Given the description of an element on the screen output the (x, y) to click on. 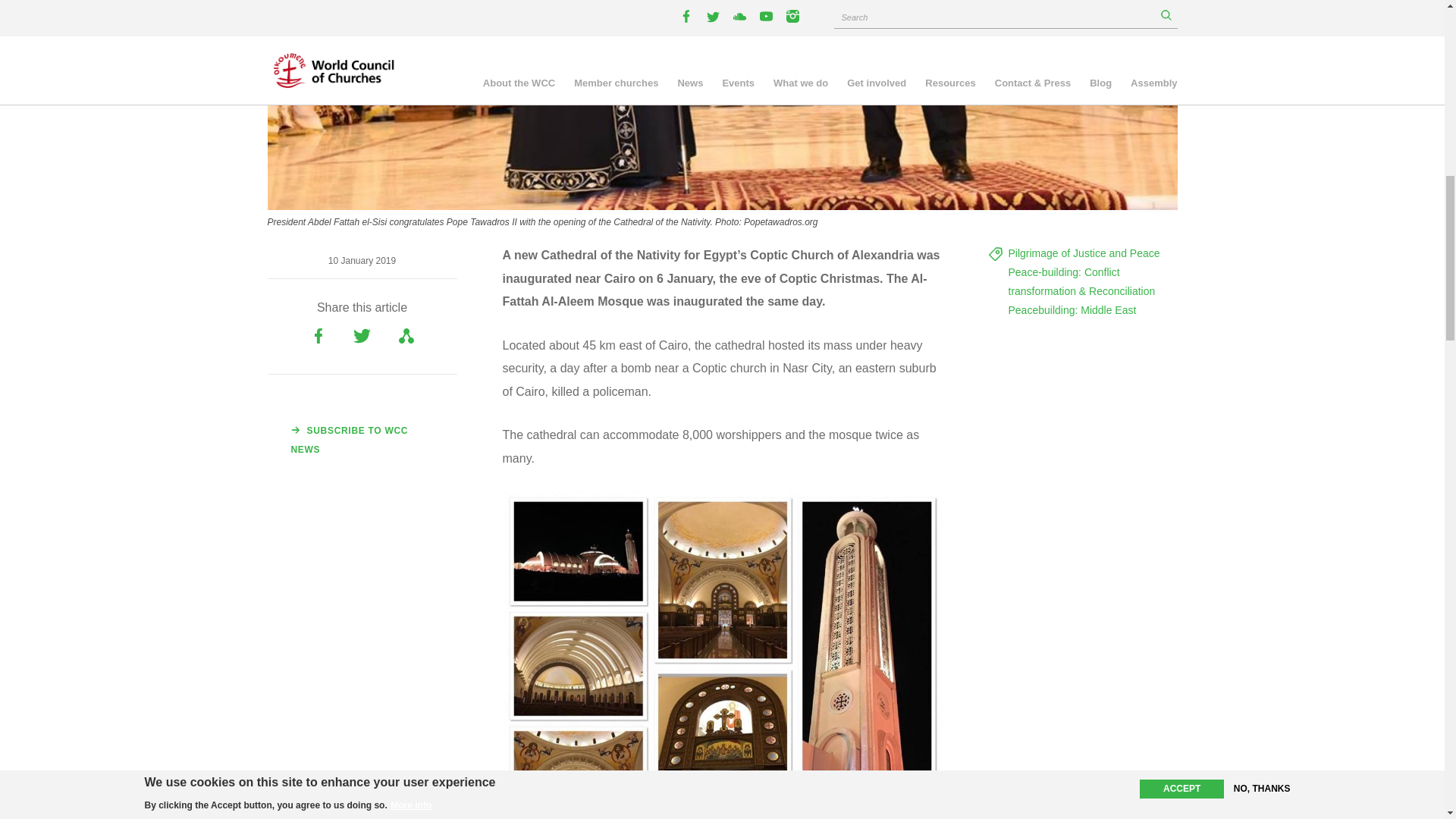
Pilgrimage of Justice and Peace (1084, 253)
SUBSCRIBE TO WCC NEWS (361, 440)
Peacebuilding: Middle East (1073, 309)
